Given the description of an element on the screen output the (x, y) to click on. 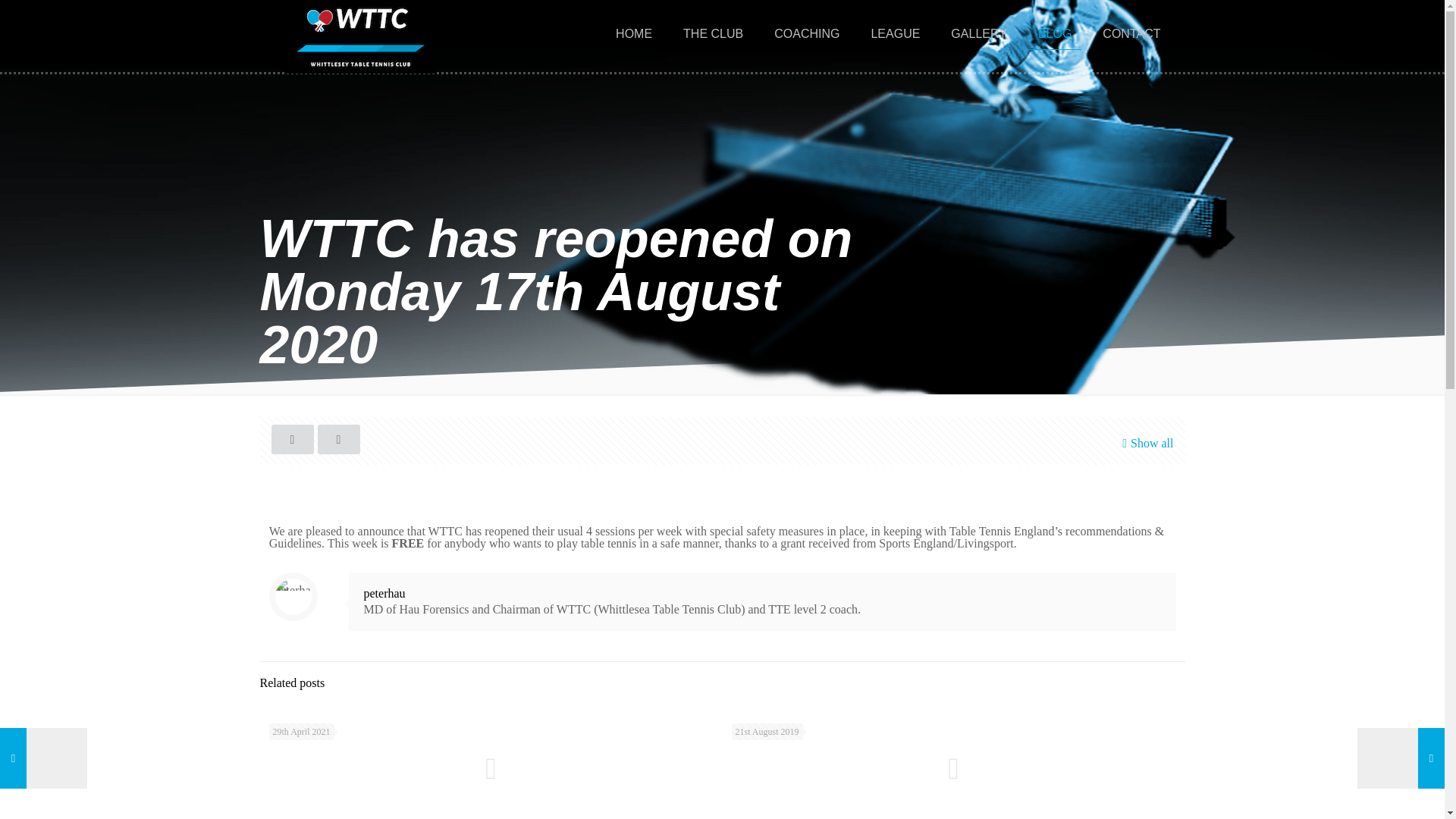
HOME (633, 33)
BLOG (1055, 33)
peterhau (385, 593)
CONTACT (1130, 33)
Whittlesey Table Tennis (358, 36)
THE CLUB (713, 33)
COACHING (807, 33)
LEAGUE (896, 33)
Show all (1145, 443)
GALLERY (979, 33)
